Given the description of an element on the screen output the (x, y) to click on. 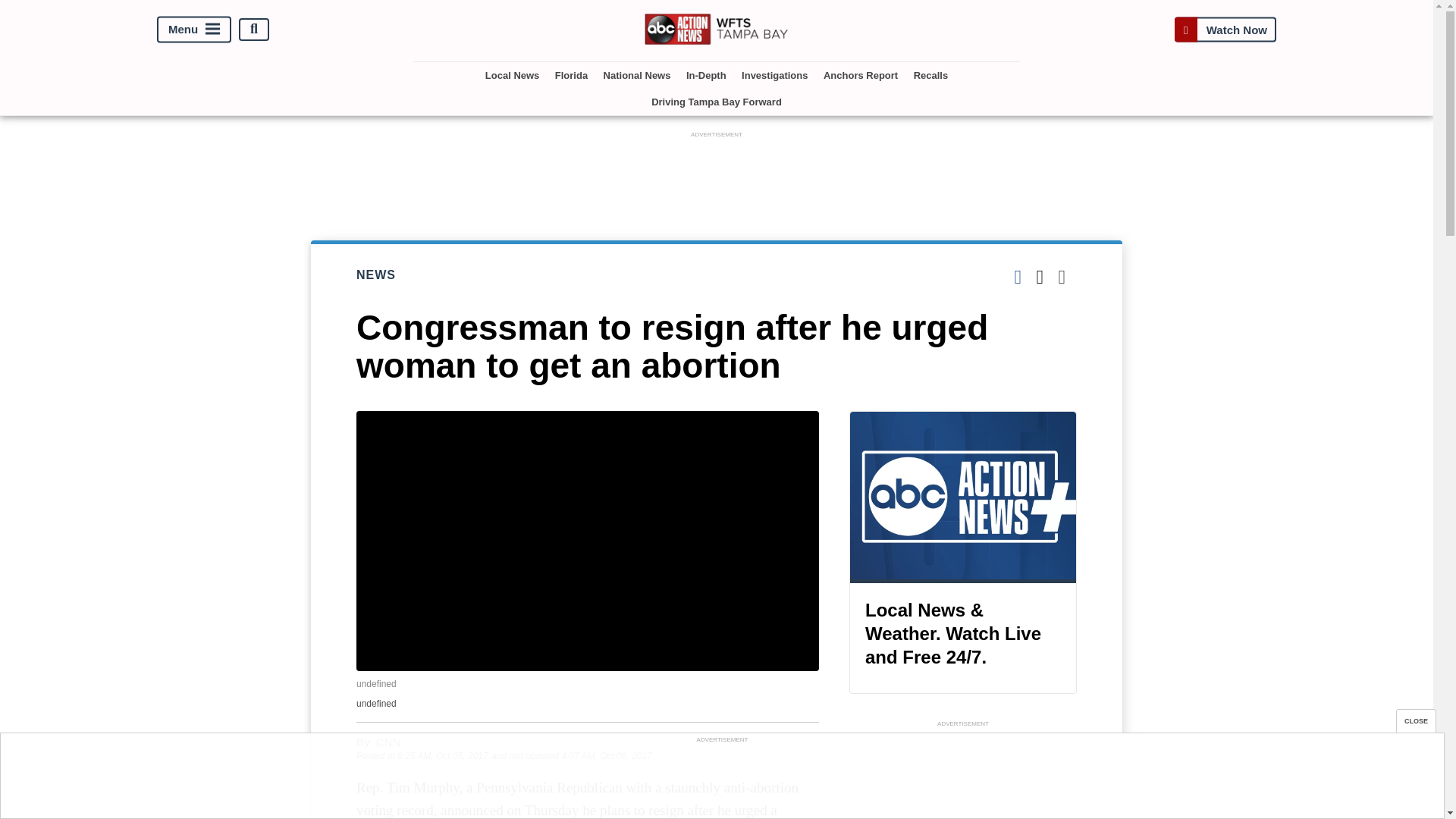
3rd party ad content (716, 175)
Menu (194, 28)
3rd party ad content (962, 775)
Watch Now (1224, 29)
3rd party ad content (721, 780)
